Given the description of an element on the screen output the (x, y) to click on. 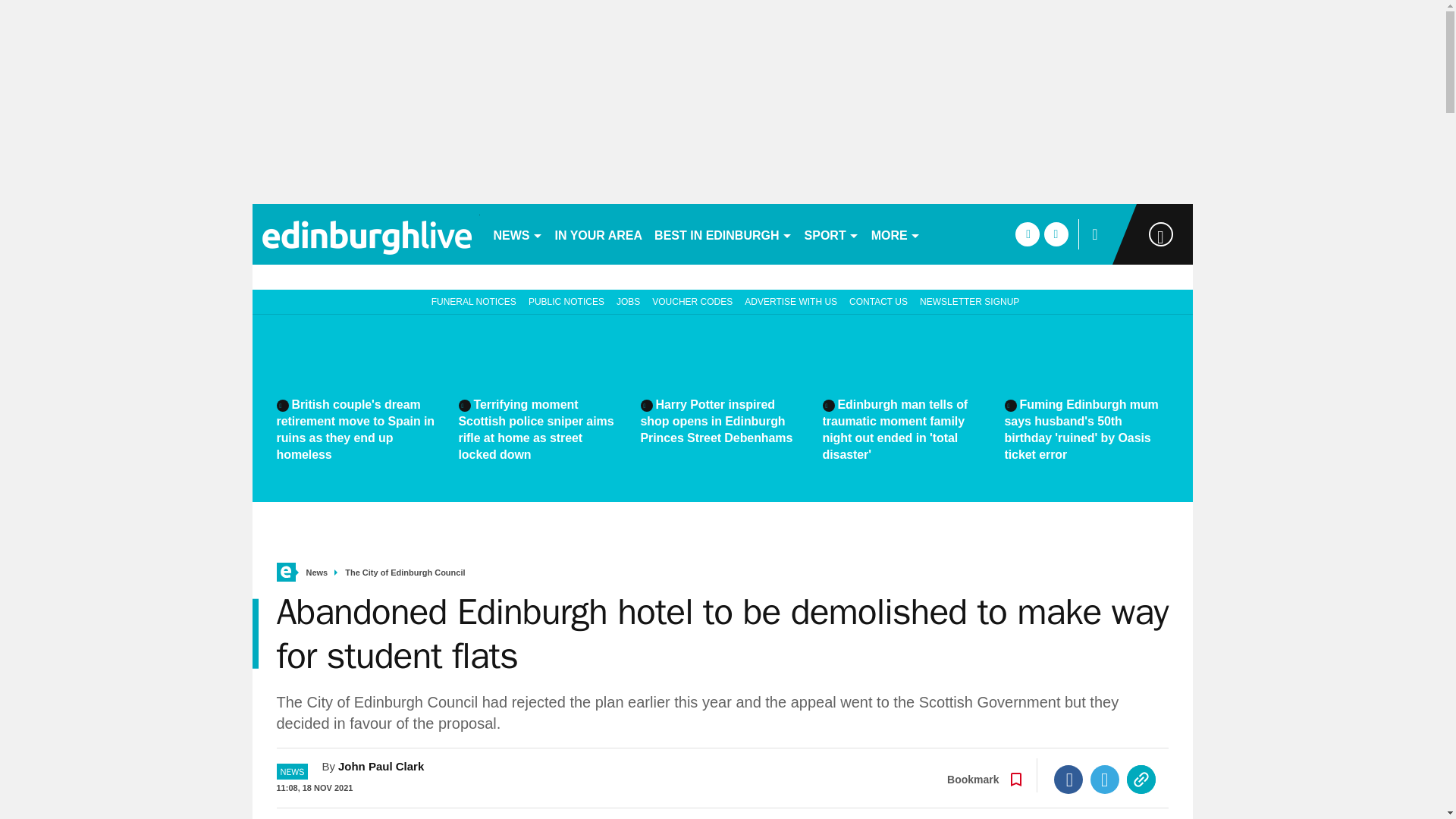
SPORT (830, 233)
NEWS (517, 233)
MORE (895, 233)
edinburghlive (365, 233)
IN YOUR AREA (598, 233)
Twitter (1104, 778)
BEST IN EDINBURGH (722, 233)
Facebook (1068, 778)
twitter (1055, 233)
facebook (1026, 233)
